Given the description of an element on the screen output the (x, y) to click on. 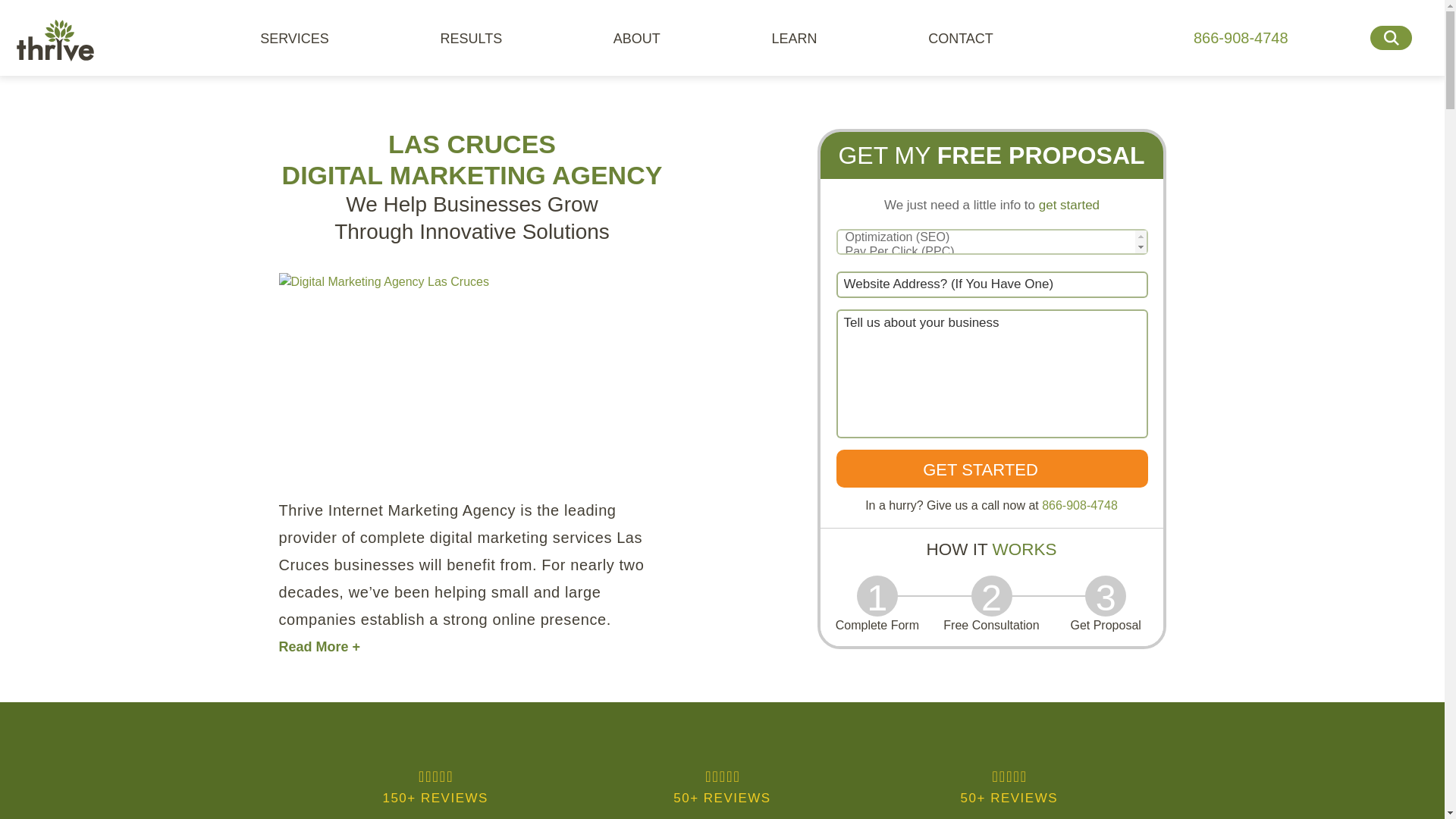
SERVICES (301, 37)
Get Started (991, 468)
